Given the description of an element on the screen output the (x, y) to click on. 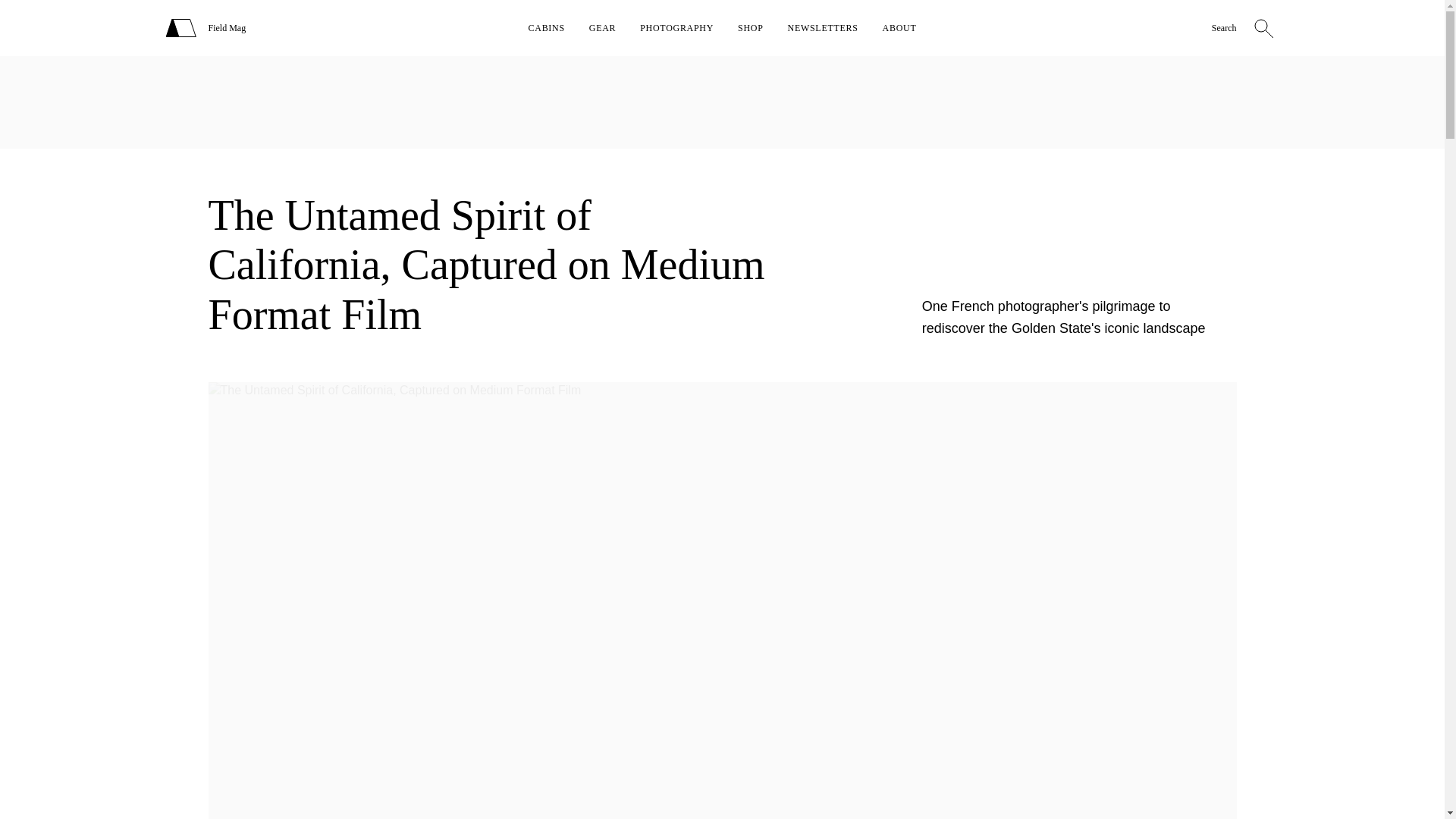
Field Mag (227, 28)
CABINS (546, 28)
PHOTOGRAPHY (676, 28)
GEAR (602, 28)
ABOUT (899, 28)
Search (1223, 28)
NEWSLETTERS (823, 28)
SHOP (750, 28)
